Given the description of an element on the screen output the (x, y) to click on. 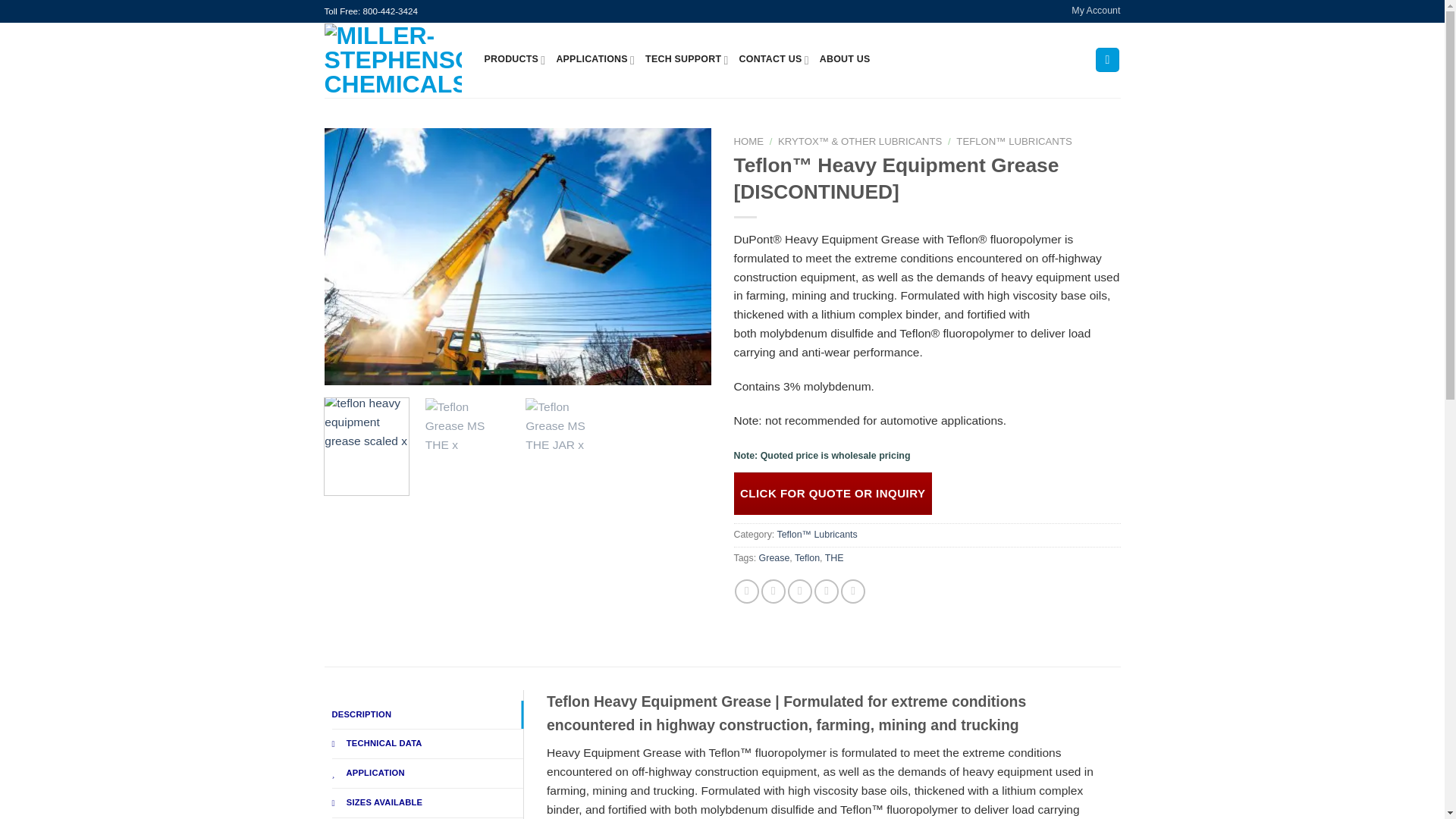
Share on Tumblr (852, 591)
Email to a Friend (799, 591)
Share on Facebook (746, 591)
CONTACT US (774, 60)
Miller-Stephenson Chemicals - Since 1955 (392, 59)
APPLICATIONS (595, 60)
Share on Twitter (773, 591)
My Account (1095, 11)
PRODUCTS (513, 60)
TECH SUPPORT (686, 60)
ABOUT US (844, 60)
Pin on Pinterest (825, 591)
